Given the description of an element on the screen output the (x, y) to click on. 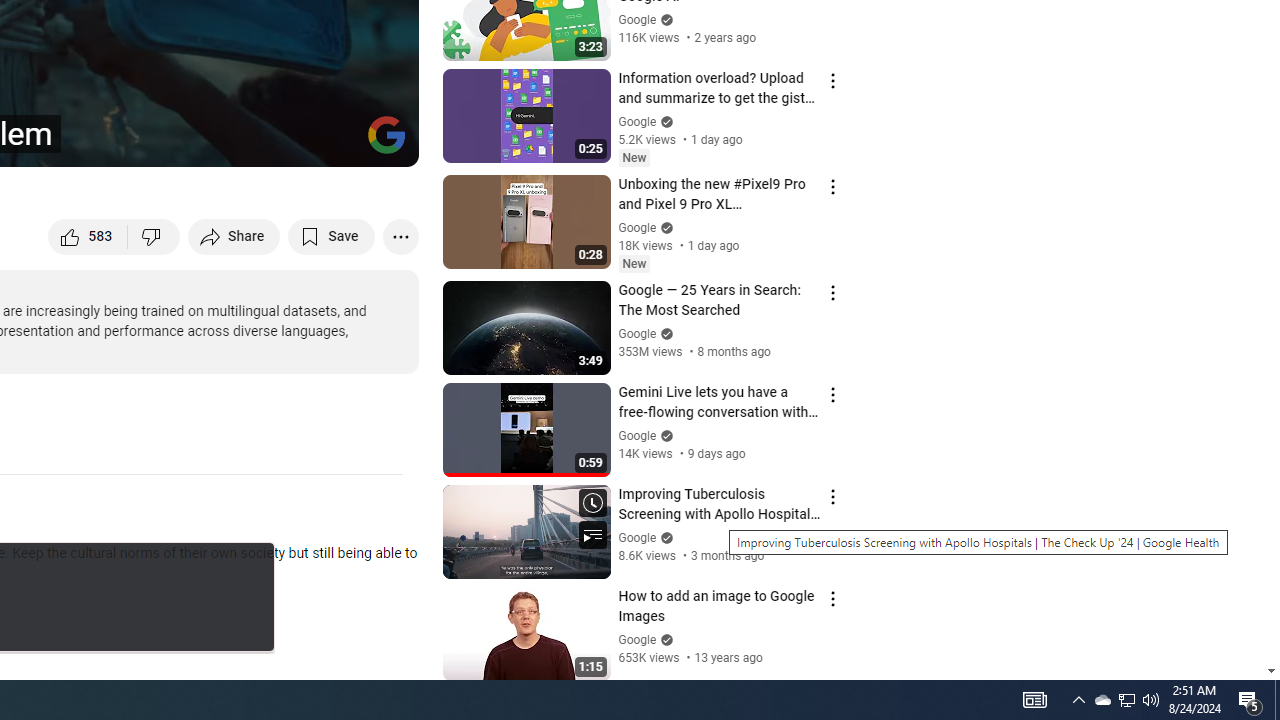
Channel watermark (386, 134)
Share (234, 236)
like this video along with 583 other people (88, 236)
Channel watermark (386, 134)
Miniplayer (i) (286, 142)
Theater mode (t) (333, 142)
More actions (399, 236)
New (634, 263)
